Given the description of an element on the screen output the (x, y) to click on. 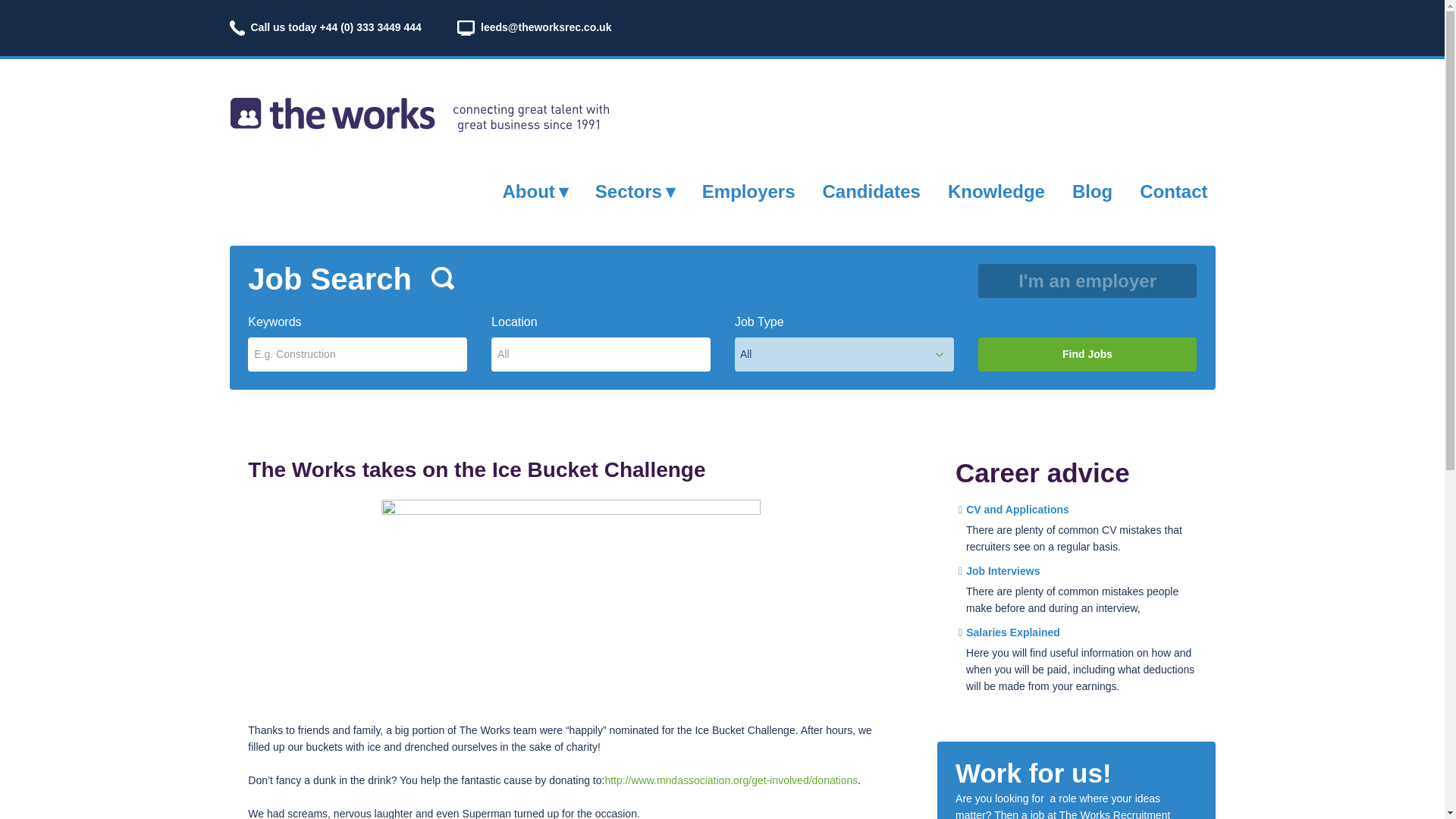
Contact (1173, 190)
Employers (747, 190)
Blog (1091, 190)
CV and Applications (1013, 509)
Salaries Explained (1008, 632)
Job Interviews (998, 571)
Knowledge (996, 190)
About (534, 190)
Find Jobs (1087, 354)
Sectors (635, 190)
Candidates (871, 190)
